Given the description of an element on the screen output the (x, y) to click on. 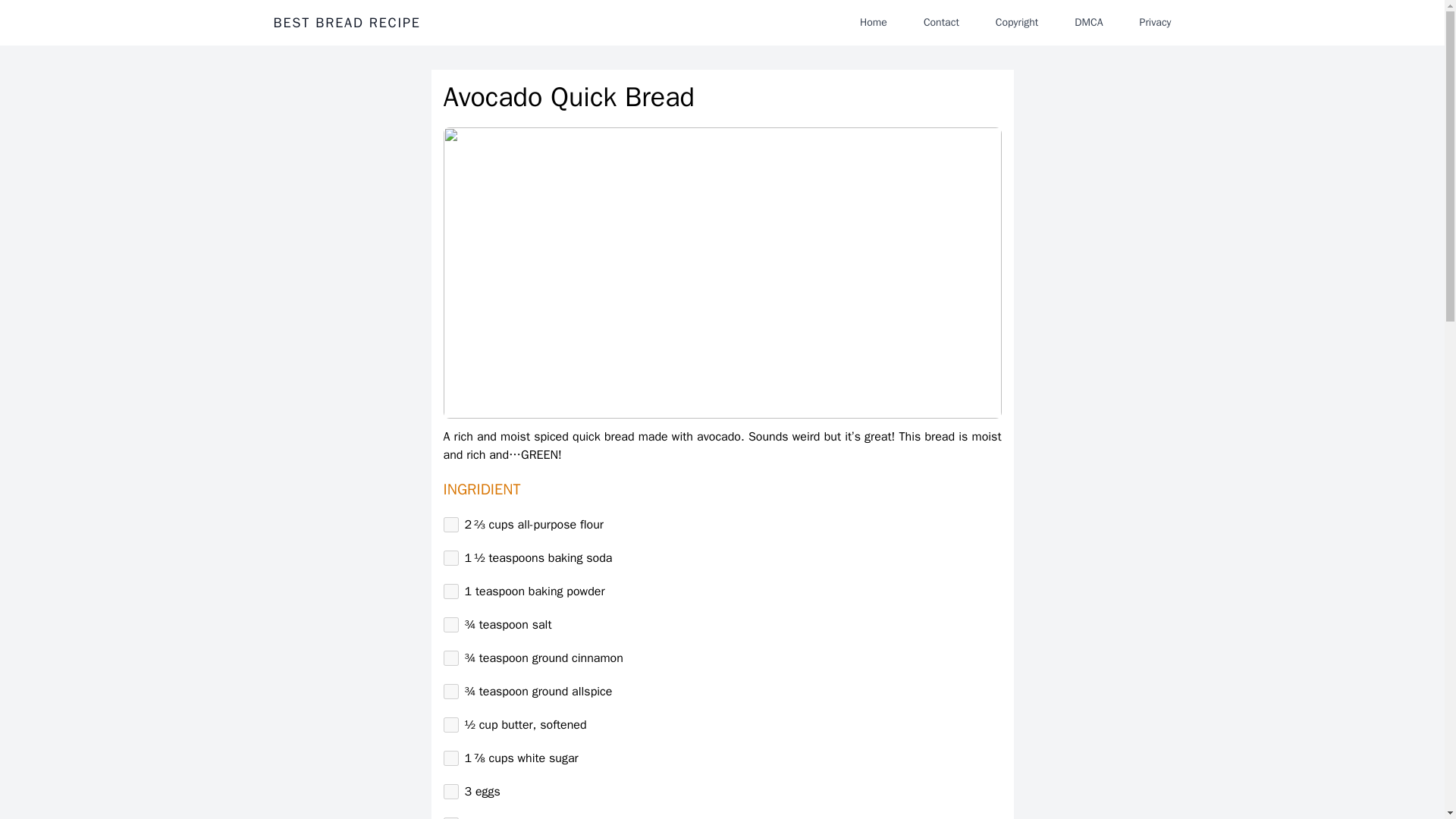
Copyright (1016, 22)
on (450, 691)
DMCA (1088, 22)
on (450, 791)
on (450, 590)
on (450, 557)
on (450, 524)
on (450, 724)
on (450, 657)
Privacy (1154, 22)
BEST BREAD RECIPE (346, 22)
on (450, 624)
on (450, 758)
Contact (941, 22)
Home (873, 22)
